Given the description of an element on the screen output the (x, y) to click on. 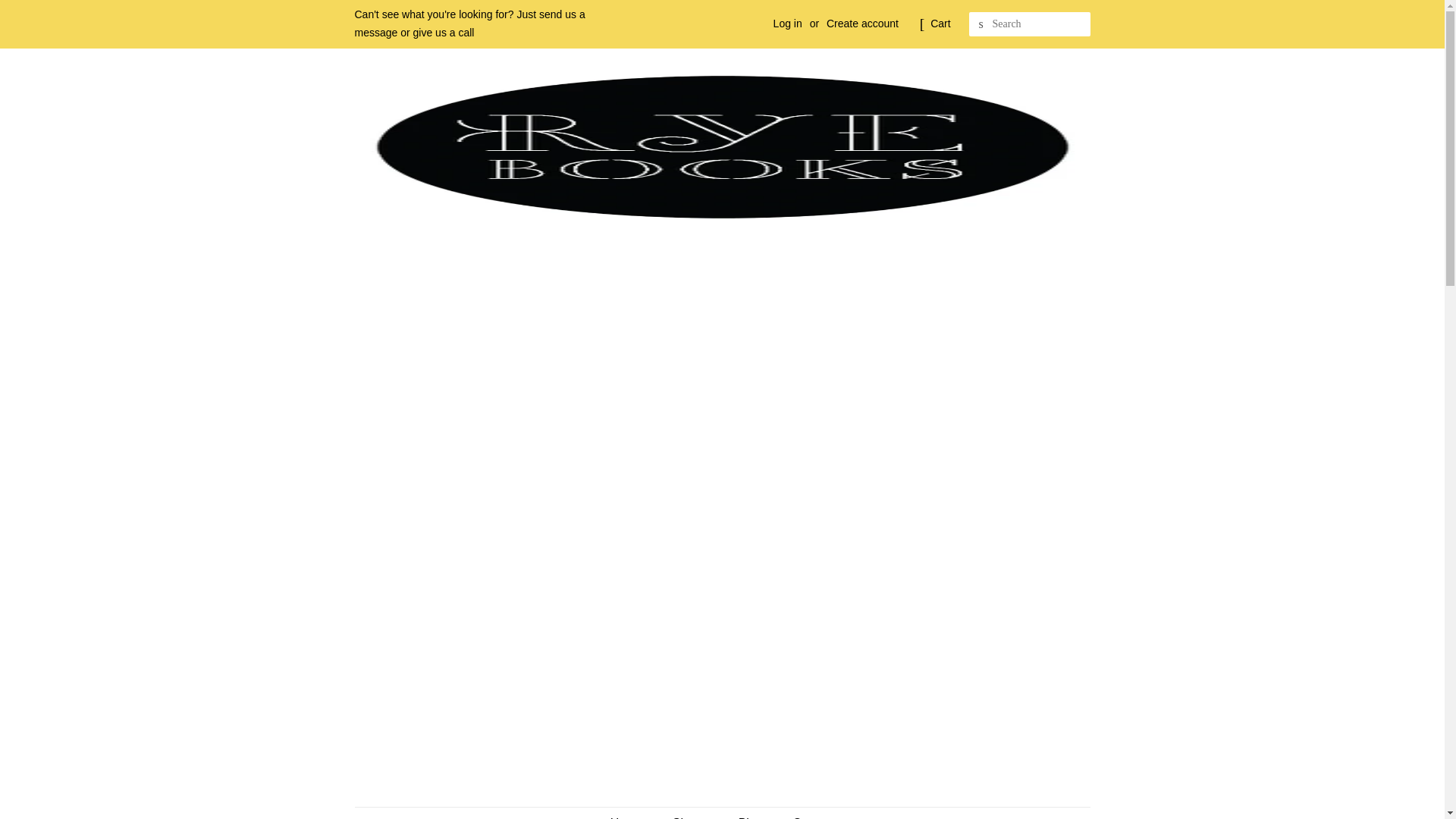
Log in (787, 23)
Create account (862, 23)
Search (980, 24)
Cart (940, 24)
